Given the description of an element on the screen output the (x, y) to click on. 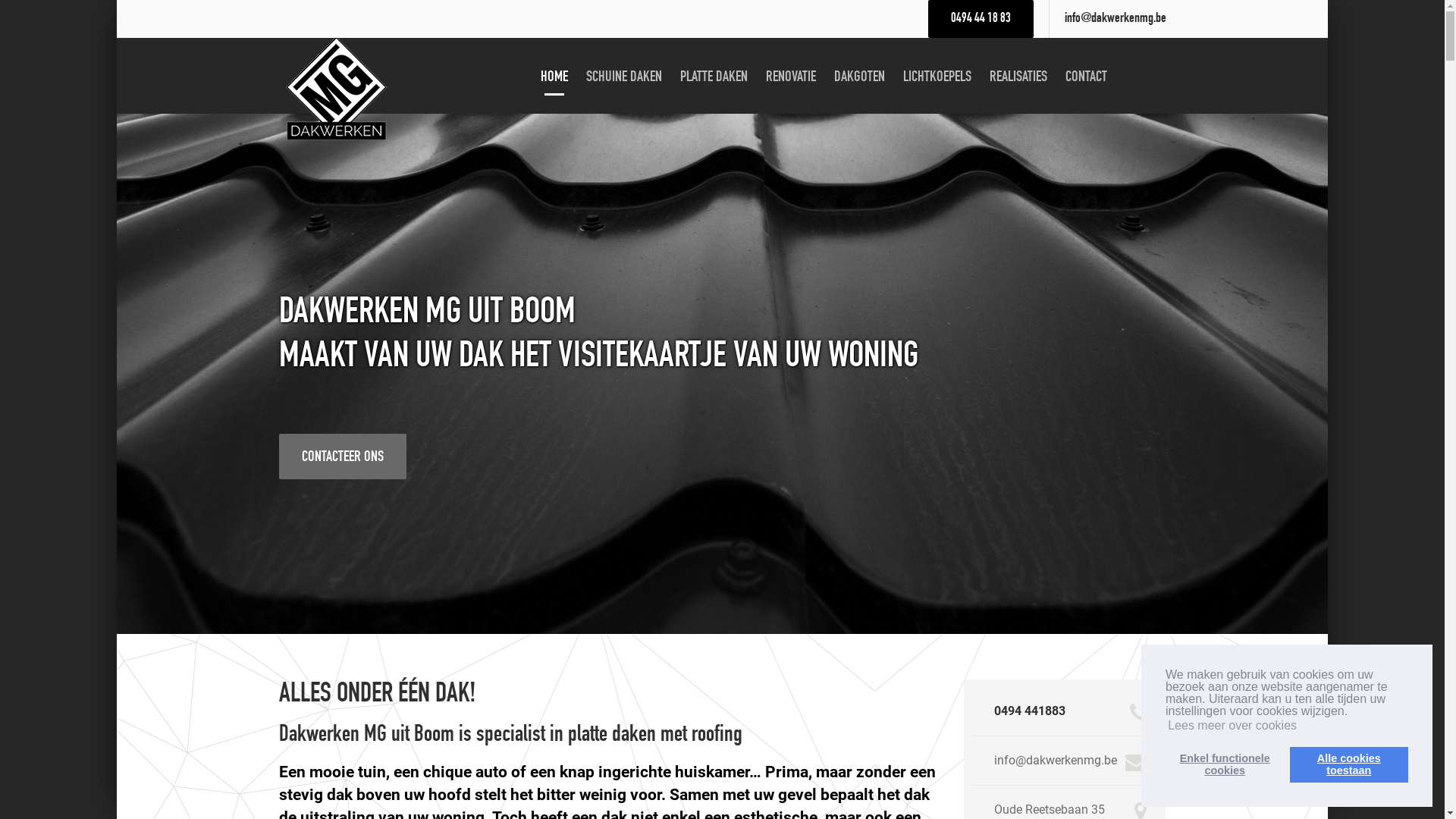
REALISATIES Element type: text (1018, 76)
Alle cookies
toestaan Element type: text (1348, 764)
info@dakwerkenmg.be Element type: text (1115, 18)
HOME Element type: text (554, 76)
DAKGOTEN Element type: text (859, 76)
CONTACT Element type: text (1085, 76)
Enkel functionele
cookies Element type: text (1224, 764)
LICHTKOEPELS Element type: text (937, 76)
CONTACTEER ONS Element type: text (342, 456)
Lees meer over cookies Element type: text (1232, 725)
RENOVATIE Element type: text (790, 76)
0494 441883 Element type: text (1029, 710)
0494 44 18 83 Element type: text (980, 18)
SCHUINE DAKEN Element type: text (623, 76)
PLATTE DAKEN Element type: text (713, 76)
info@dakwerkenmg.be Element type: text (1055, 760)
